Given the description of an element on the screen output the (x, y) to click on. 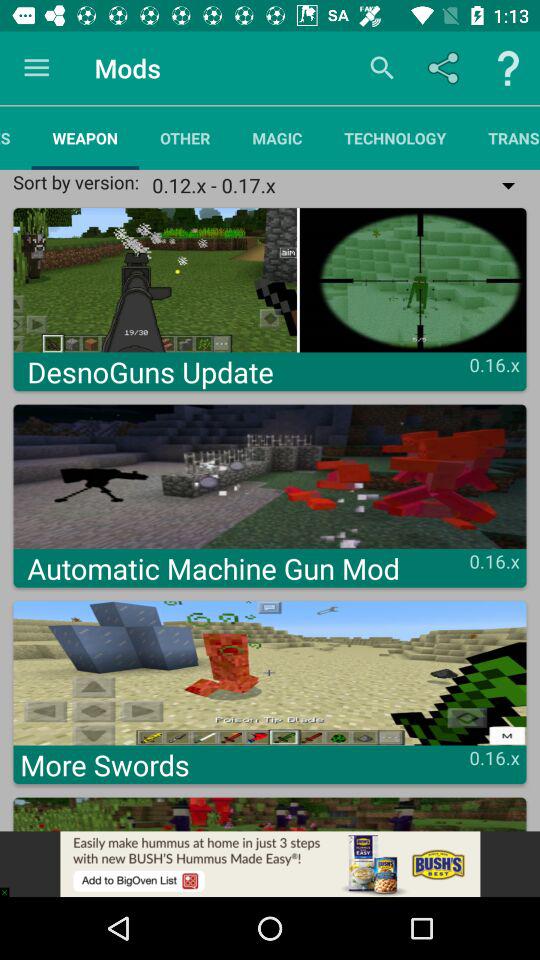
turn off icon above 0 12 x (503, 137)
